Given the description of an element on the screen output the (x, y) to click on. 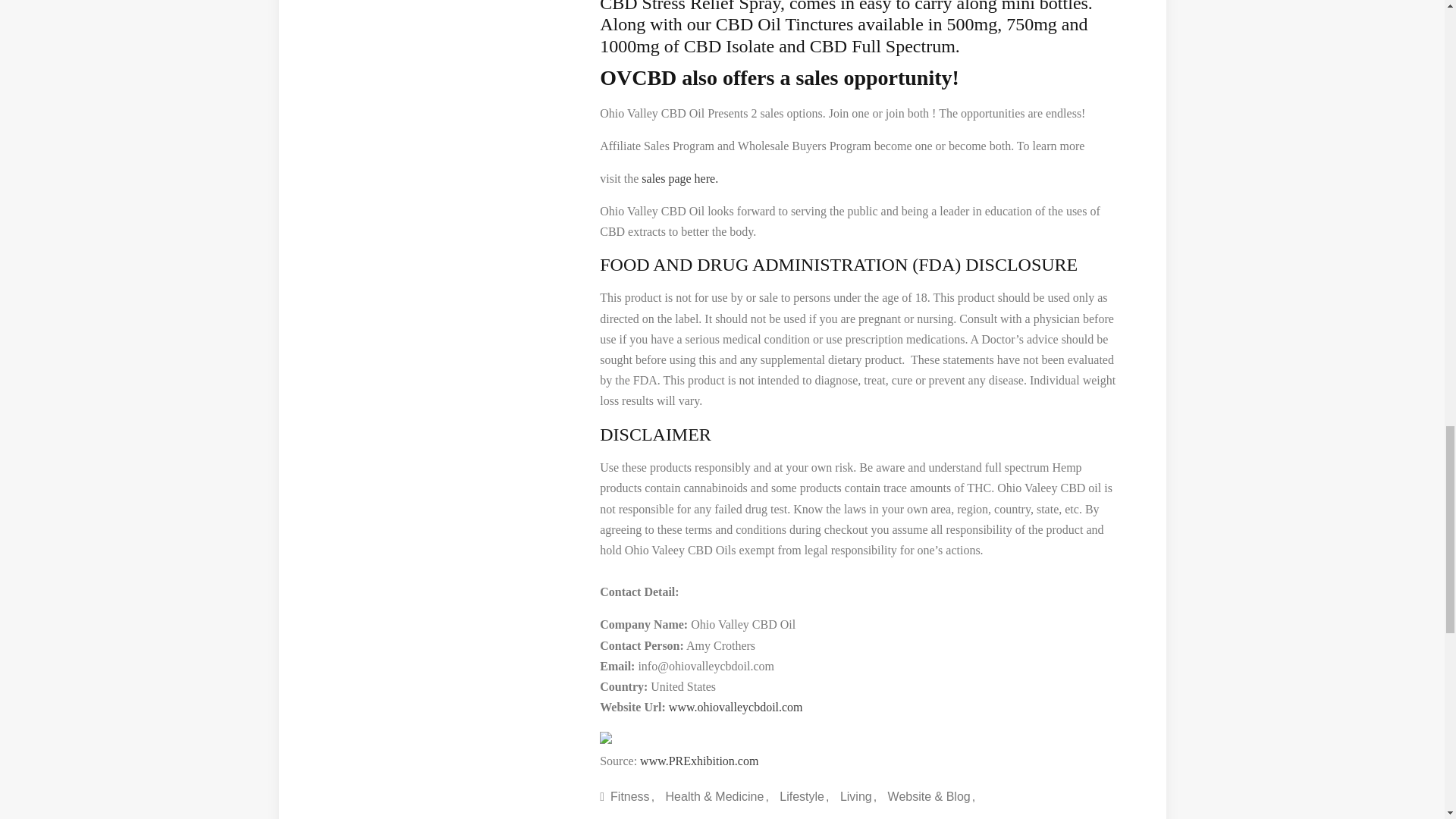
Lifestyle (803, 795)
www.ohiovalleycbdoil.com (735, 707)
Fitness (632, 795)
sales page here. (678, 178)
Living (858, 795)
www.PRExhibition.com (699, 760)
